Given the description of an element on the screen output the (x, y) to click on. 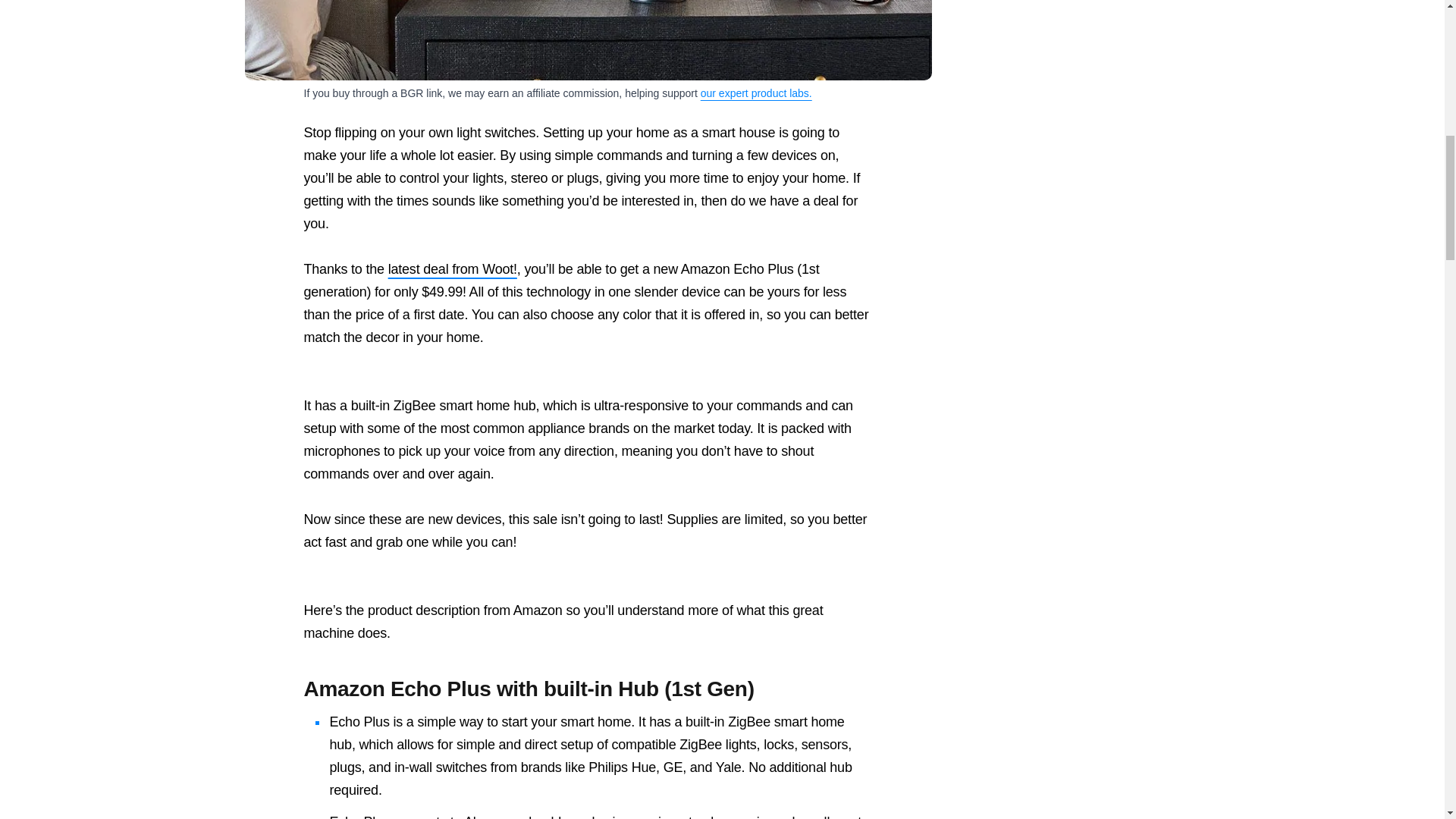
Amazon Echo Plus (587, 40)
